Given the description of an element on the screen output the (x, y) to click on. 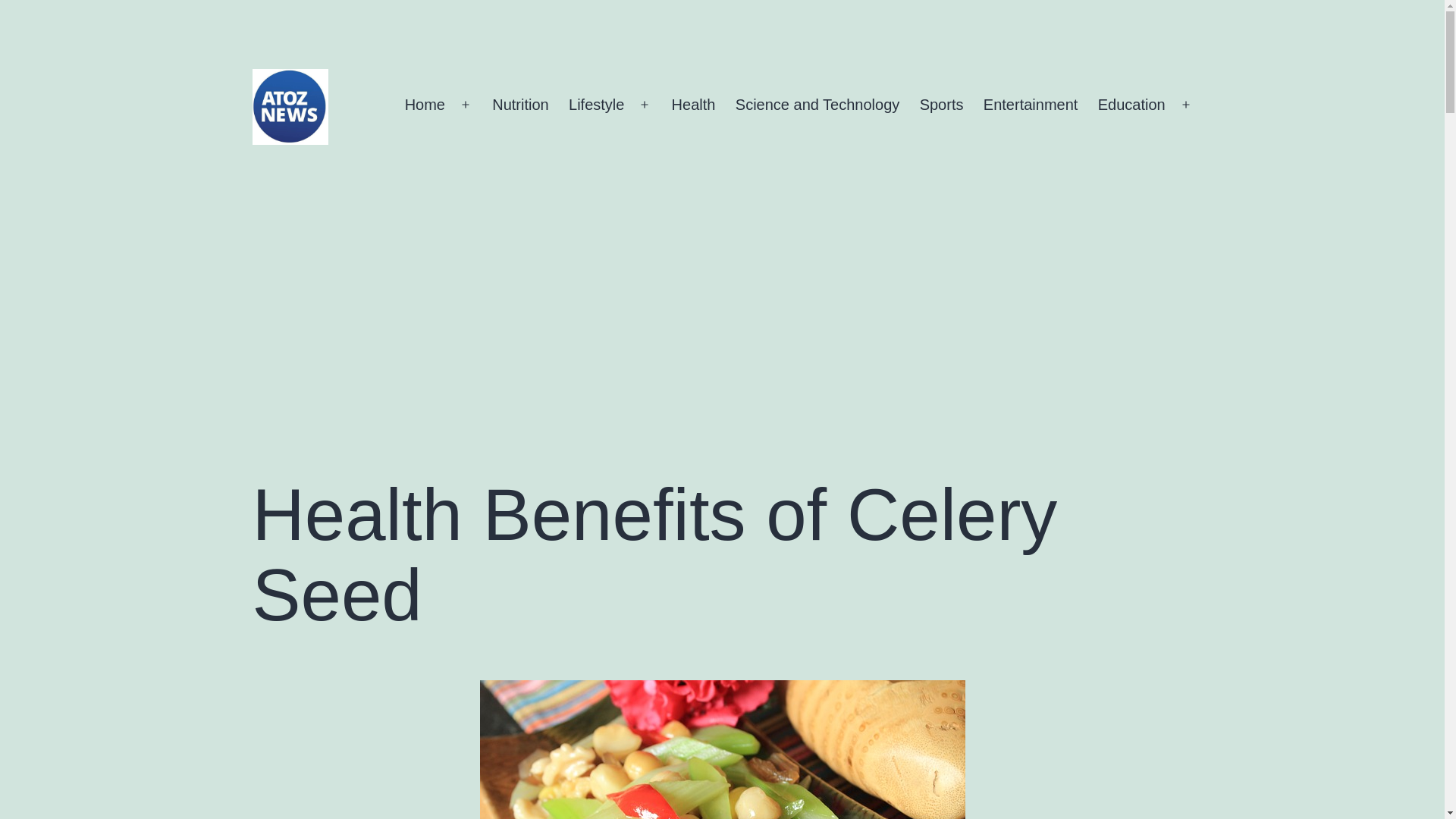
Health (693, 105)
Education (1130, 105)
Nutrition (520, 105)
Science and Technology (817, 105)
Sports (940, 105)
Entertainment (1030, 105)
Home (424, 105)
Lifestyle (596, 105)
